Given the description of an element on the screen output the (x, y) to click on. 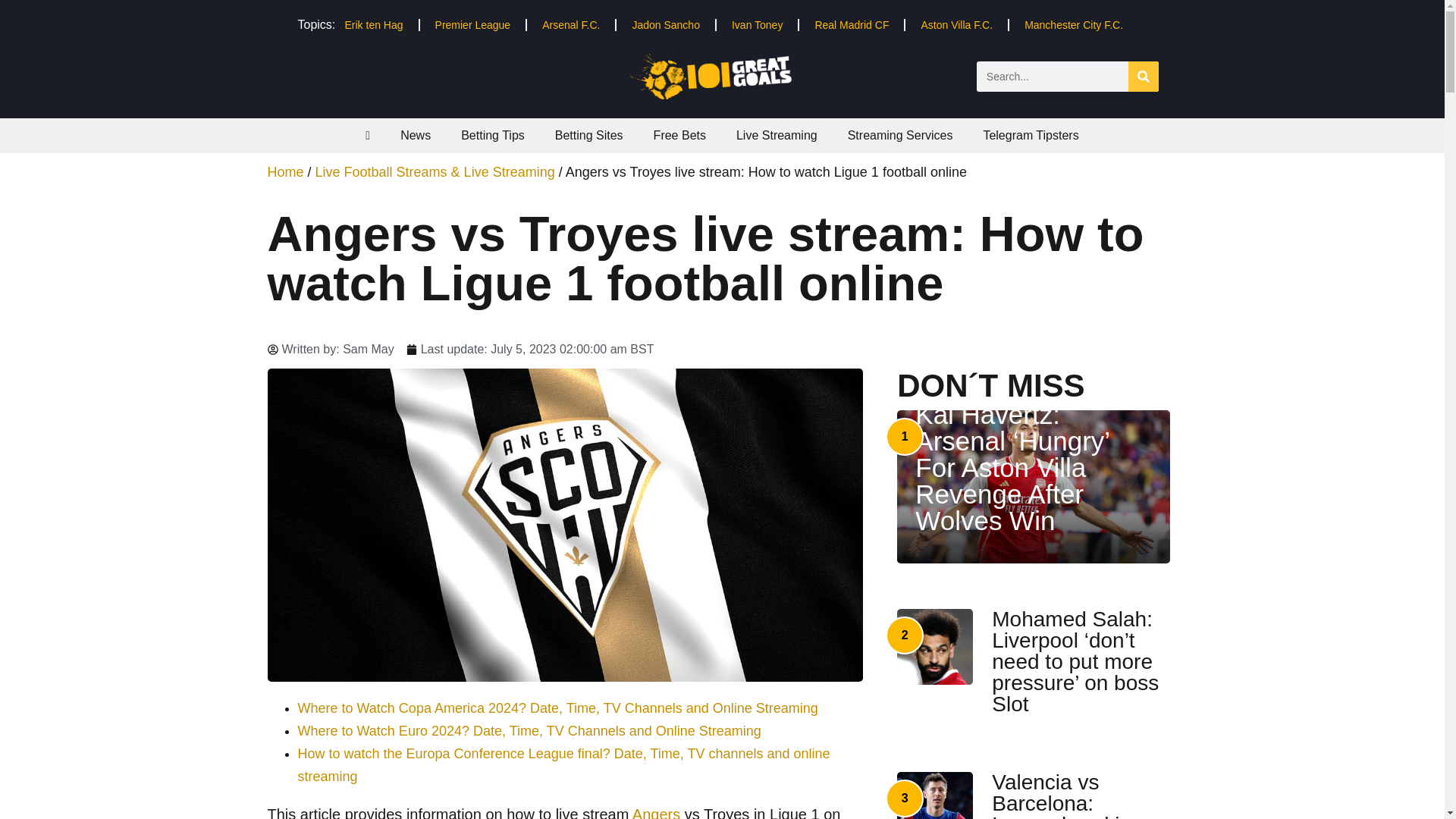
Premier League (472, 24)
Manchester City F.C. (1073, 24)
Jadon Sancho (664, 24)
Ivan Toney (756, 24)
Betting Tips (492, 135)
Arsenal F.C. (570, 24)
News (415, 135)
Erik ten Hag (373, 24)
Real Madrid CF (851, 24)
Aston Villa F.C. (956, 24)
